Given the description of an element on the screen output the (x, y) to click on. 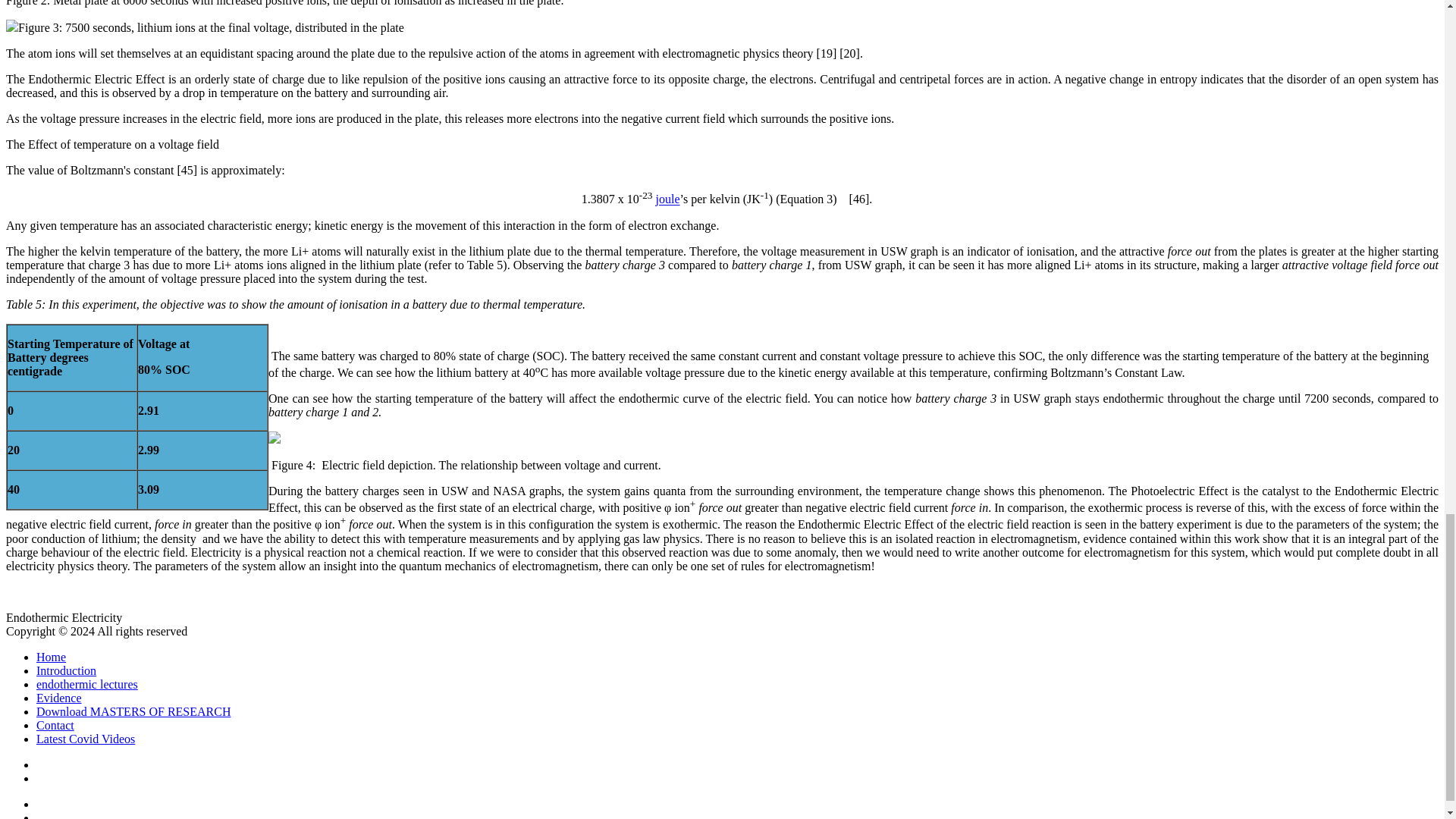
Evidence (58, 697)
Figure  (34, 27)
Introduction (66, 670)
endothermic lectures (87, 684)
Figure 4 (291, 464)
The Effect of temperature on a voltage field (112, 144)
Contact (55, 725)
Home (50, 656)
Download MASTERS OF RESEARCH (133, 711)
joule (667, 199)
Figure  (22, 3)
Latest Covid Videos (85, 738)
